Given the description of an element on the screen output the (x, y) to click on. 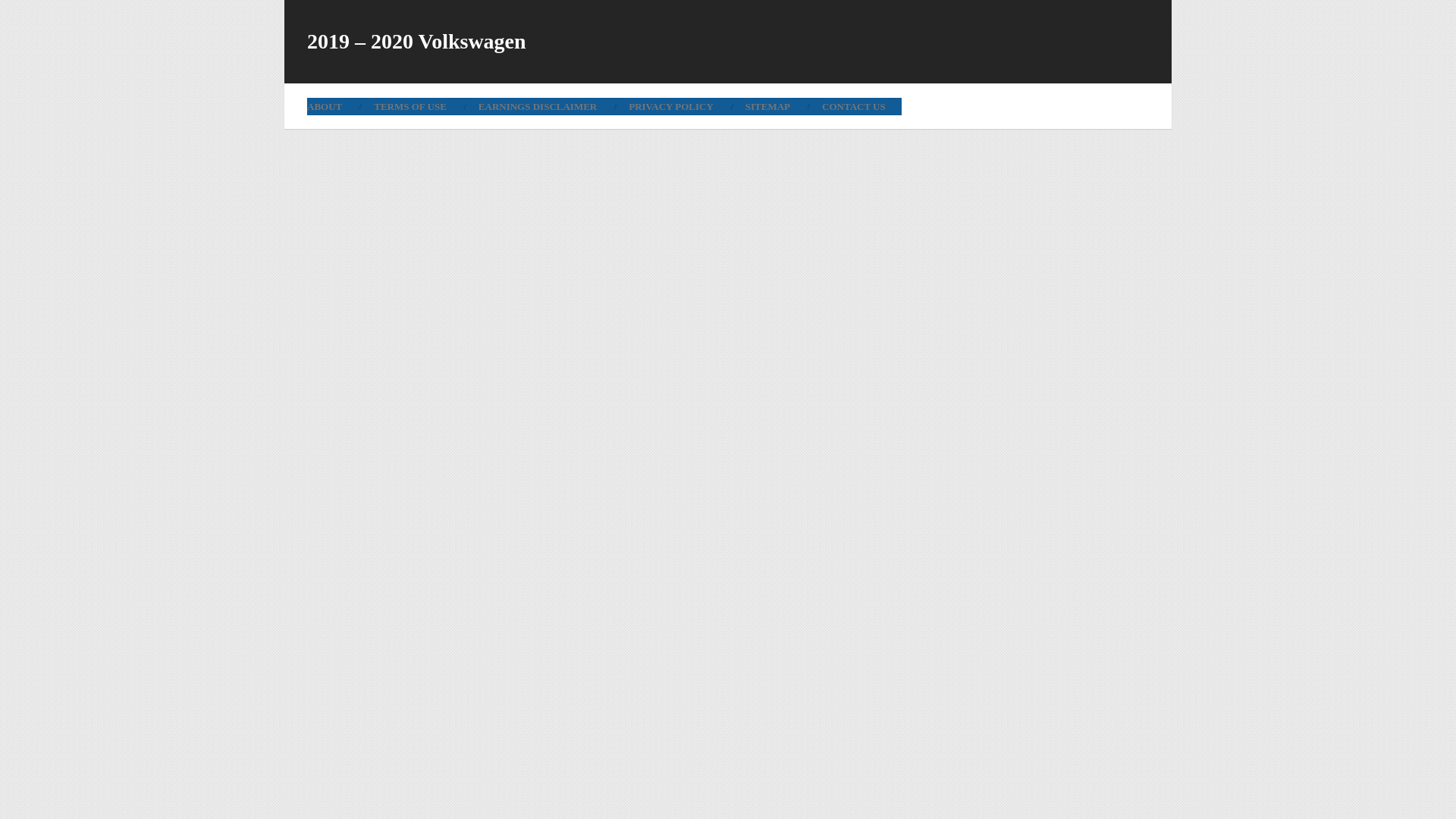
ABOUT (332, 105)
PRIVACY POLICY (670, 105)
TERMS OF USE (410, 105)
SITEMAP (767, 105)
CONTACT US (853, 105)
EARNINGS DISCLAIMER (537, 105)
